Given the description of an element on the screen output the (x, y) to click on. 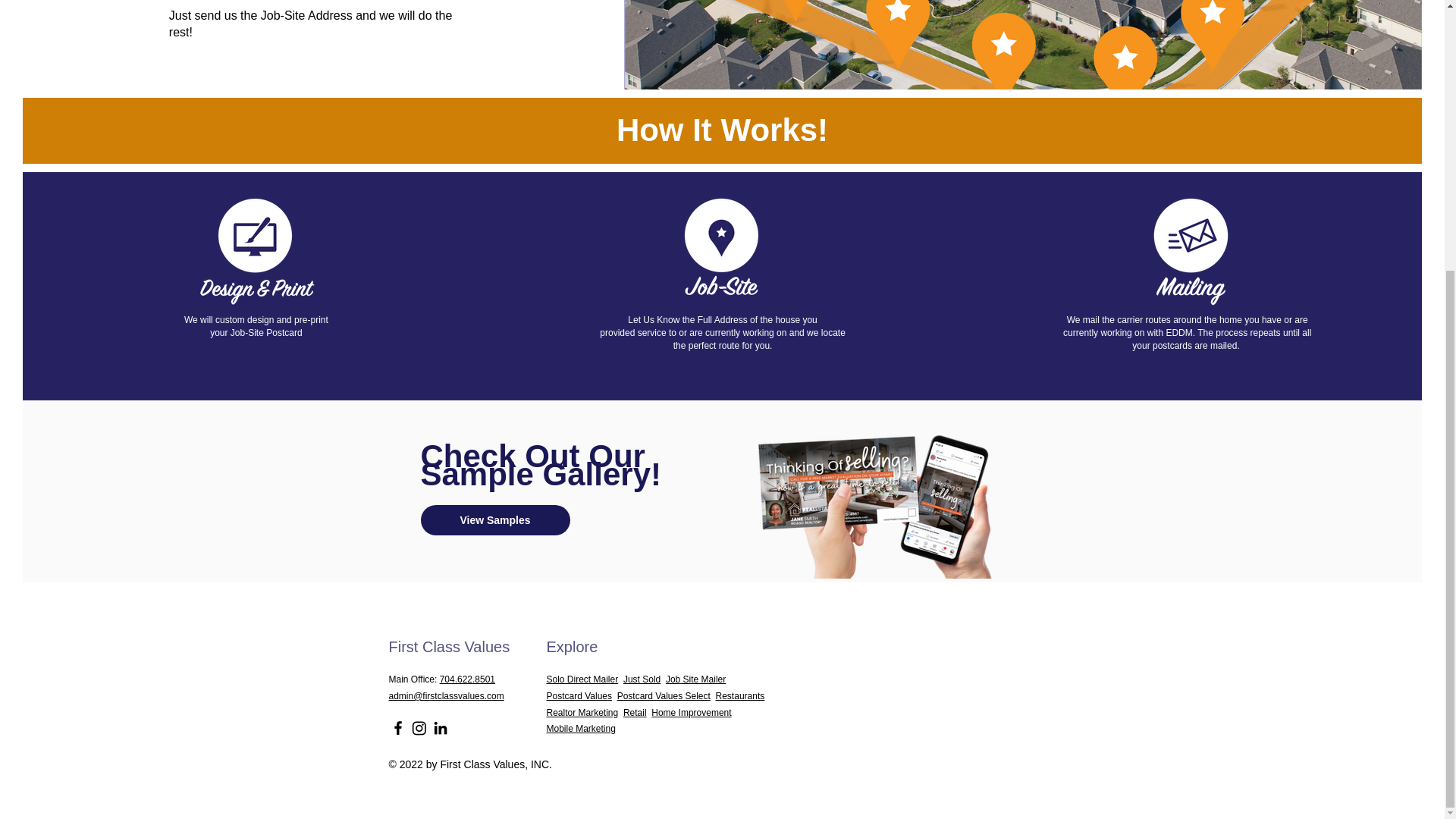
Home Improvement (690, 712)
Postcard Values (578, 696)
Realtor Marketing (581, 712)
Job Site Mailer   (697, 679)
Retail (634, 712)
Postcard Values Select (663, 696)
Just Sold (642, 679)
704.622.8501 (467, 679)
Solo Direct Mailer   (584, 679)
Restaurants (740, 696)
View Samples (494, 520)
